Given the description of an element on the screen output the (x, y) to click on. 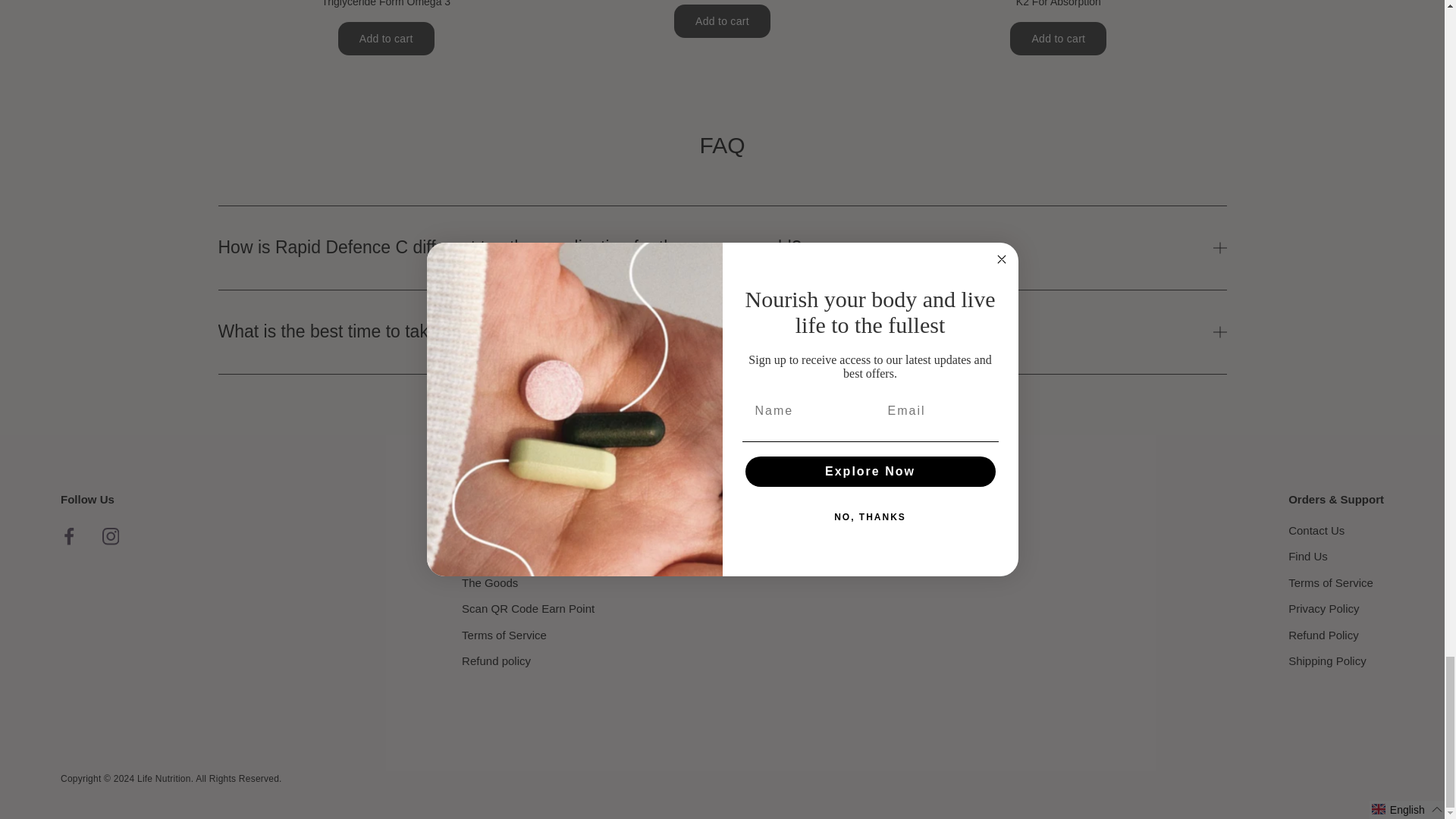
Add to cart (1058, 38)
Add to cart (722, 20)
Add to cart (385, 38)
